Given the description of an element on the screen output the (x, y) to click on. 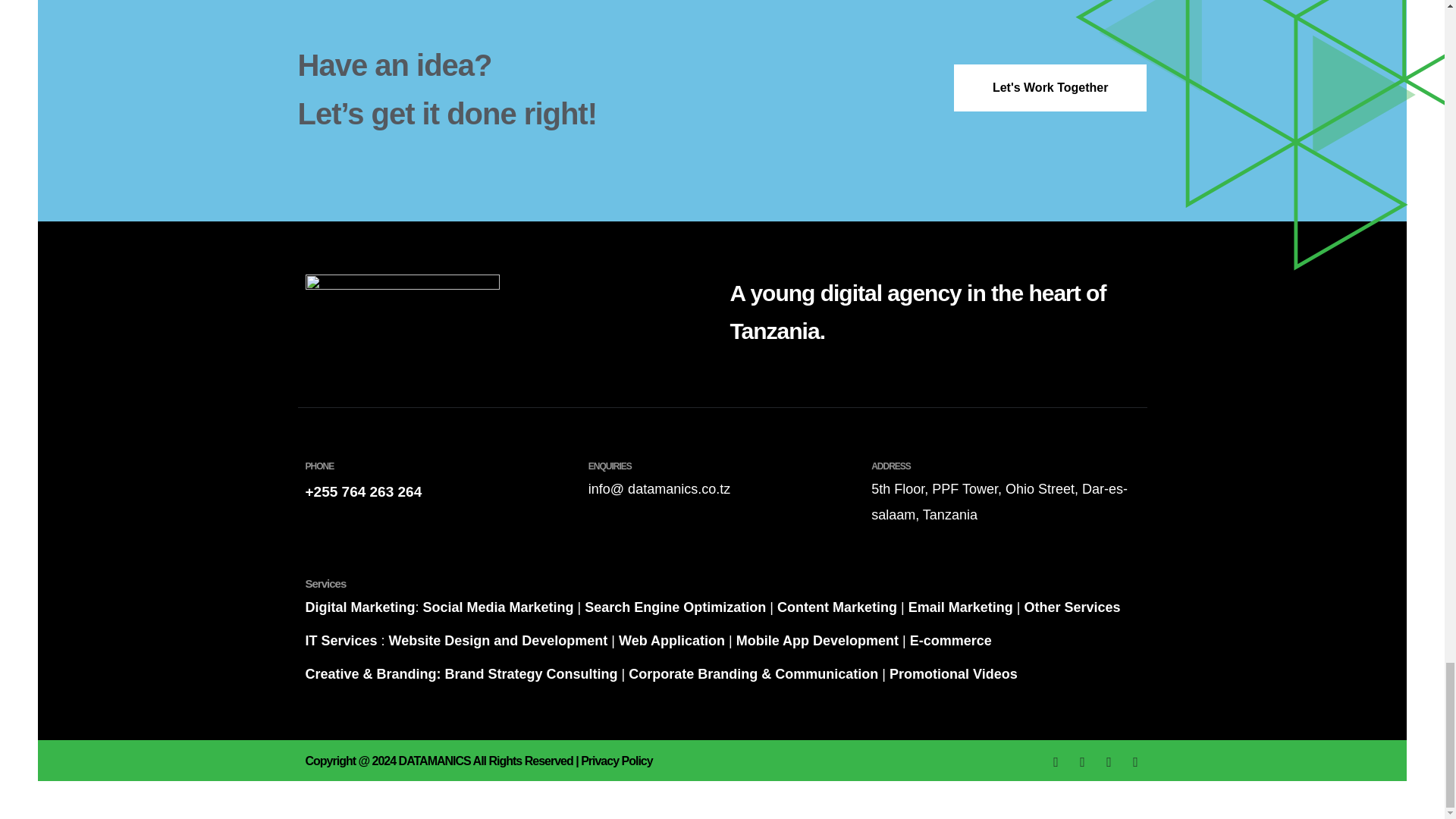
Website Design and Development (498, 640)
Other Services (1071, 607)
Let's Work Together (1050, 87)
E-commerce (950, 640)
Search Engine Optimization (675, 607)
Social Media Marketing (498, 607)
Mobile App Development (815, 640)
Content Marketing (834, 607)
Web Application (671, 640)
Email Marketing (960, 607)
